Given the description of an element on the screen output the (x, y) to click on. 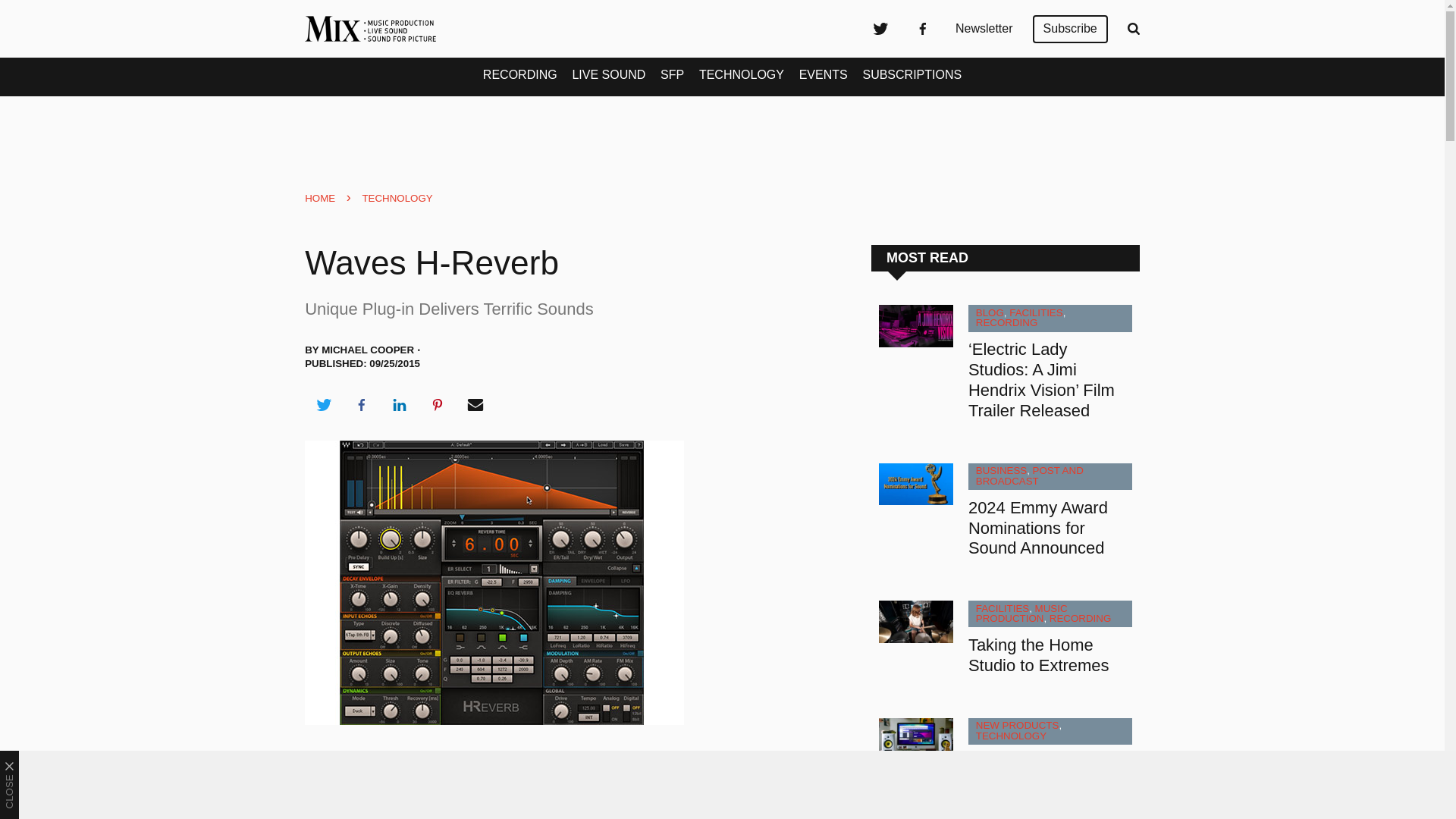
Share via Email (476, 404)
Share on LinkedIn (399, 404)
Share on Pinterest (438, 404)
Share on Twitter (323, 404)
Share on Facebook (361, 404)
